Given the description of an element on the screen output the (x, y) to click on. 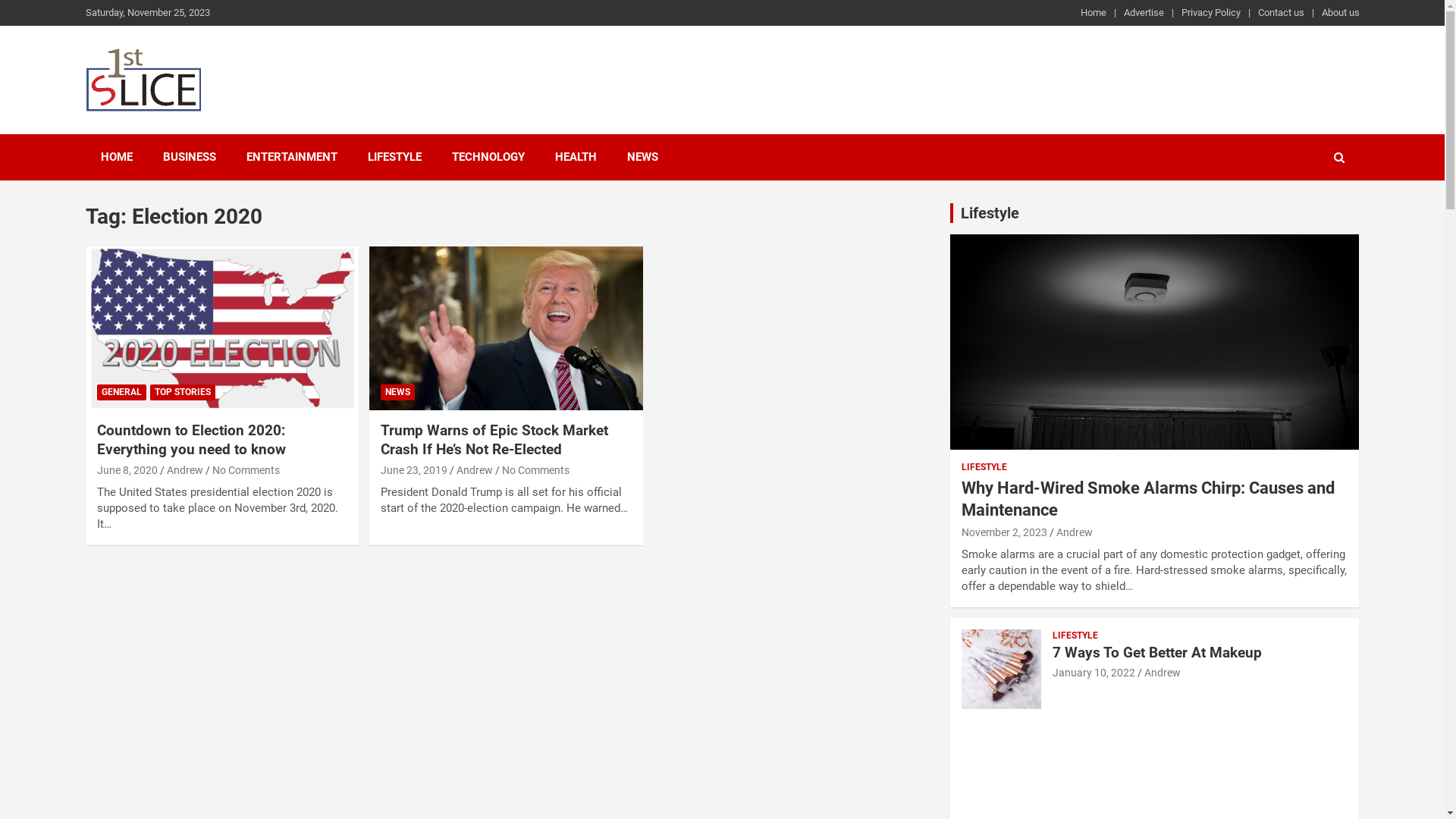
June 23, 2019 Element type: text (413, 470)
1stslice Element type: text (139, 130)
TOP STORIES Element type: text (182, 392)
November 2, 2023 Element type: text (1004, 532)
Why Hard-Wired Smoke Alarms Chirp: Causes and Maintenance Element type: text (1147, 498)
GENERAL Element type: text (121, 392)
About us Element type: text (1339, 12)
HOME Element type: text (115, 157)
NEWS Element type: text (397, 392)
June 8, 2020 Element type: text (127, 470)
Home Element type: text (1092, 12)
Andrew Element type: text (184, 470)
Countdown to Election 2020: Everything you need to know Element type: text (191, 439)
No Comments Element type: text (245, 470)
January 10, 2022 Element type: text (1093, 672)
Privacy Policy Element type: text (1210, 12)
HEALTH Element type: text (575, 157)
Countdown to Election 2020: Everything you need to know Element type: hover (220, 327)
Contact us Element type: text (1280, 12)
LIFESTYLE Element type: text (393, 157)
TECHNOLOGY Element type: text (487, 157)
Andrew Element type: text (1073, 532)
Skip to content Element type: text (0, 0)
ENTERTAINMENT Element type: text (290, 157)
Advertise Element type: text (1143, 12)
NEWS Element type: text (641, 157)
BUSINESS Element type: text (188, 157)
Andrew Element type: text (1161, 672)
No Comments Element type: text (535, 470)
7 Ways To Get Better At Makeup Element type: text (1156, 652)
LIFESTYLE Element type: text (1075, 635)
LIFESTYLE Element type: text (984, 467)
Andrew Element type: text (474, 470)
